Given the description of an element on the screen output the (x, y) to click on. 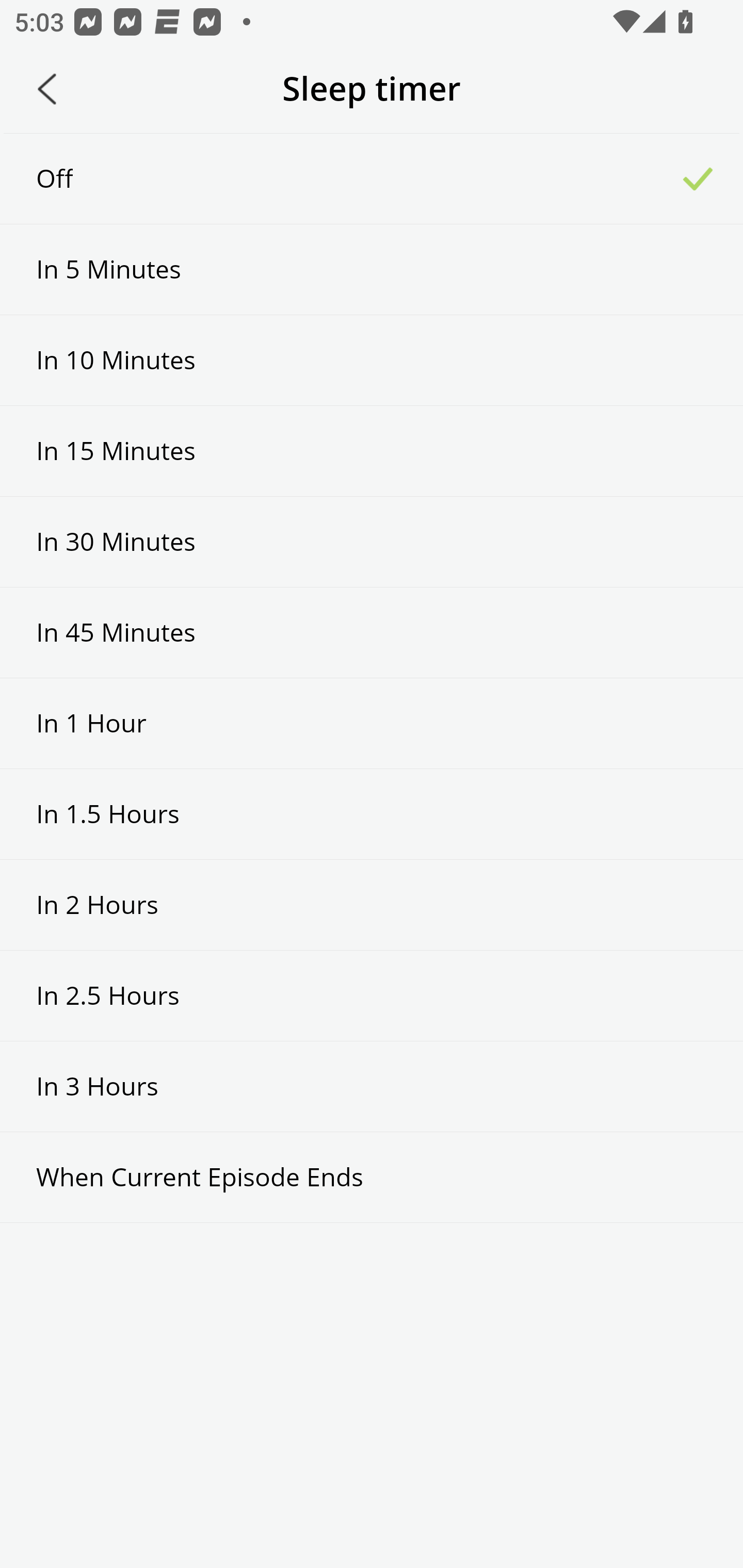
Back (46, 88)
Off (371, 178)
In 5 Minutes (371, 269)
In 10 Minutes (371, 360)
In 15 Minutes (371, 450)
In 30 Minutes (371, 541)
In 45 Minutes (371, 632)
In 1 Hour (371, 723)
In 1.5 Hours (371, 813)
In 2 Hours (371, 904)
In 2.5 Hours (371, 995)
In 3 Hours (371, 1086)
When Current Episode Ends (371, 1177)
